Given the description of an element on the screen output the (x, y) to click on. 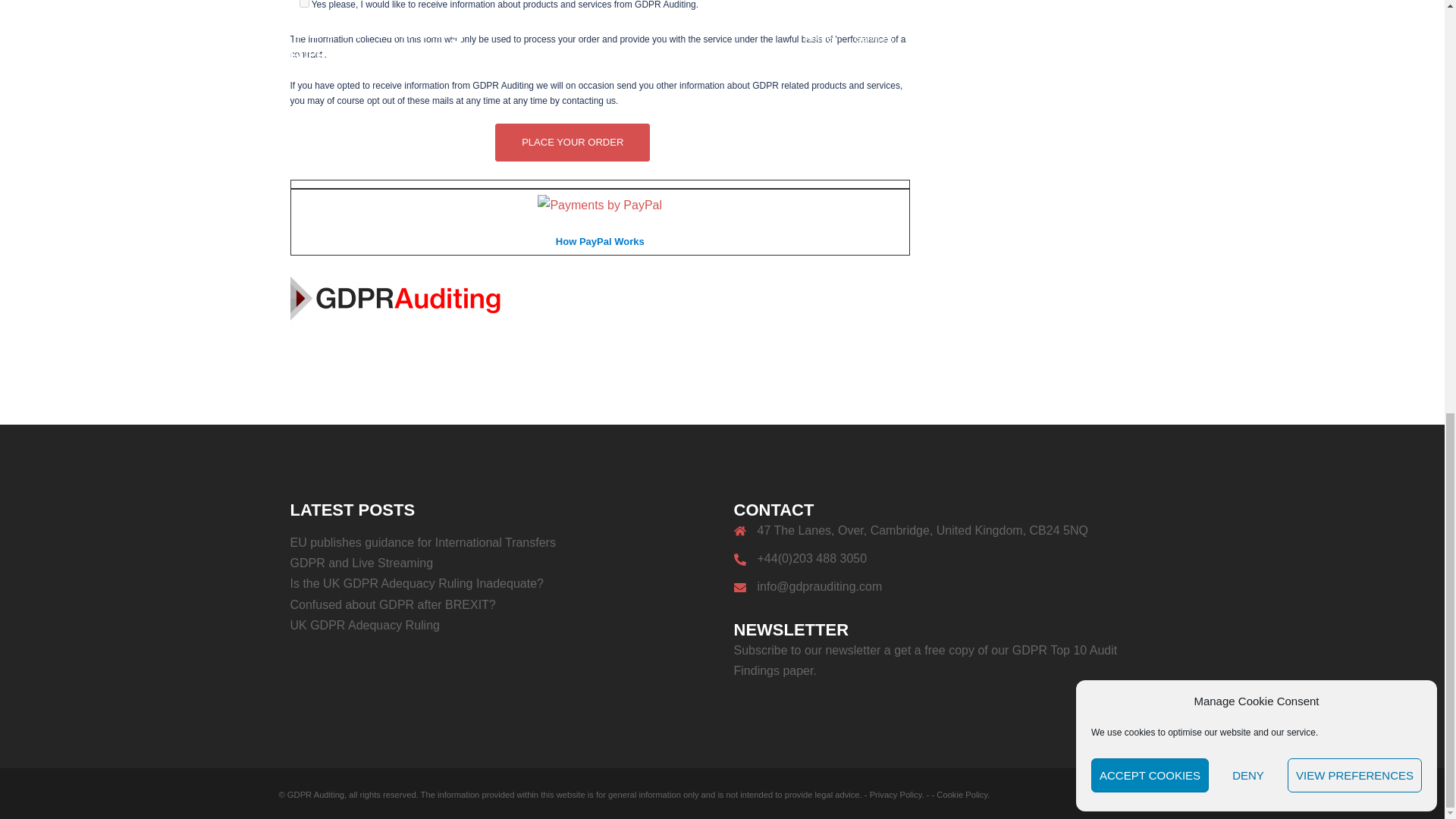
Place your order (572, 142)
Place your order (572, 142)
How PayPal Works (599, 203)
How PayPal Works (600, 240)
1 (303, 3)
